Given the description of an element on the screen output the (x, y) to click on. 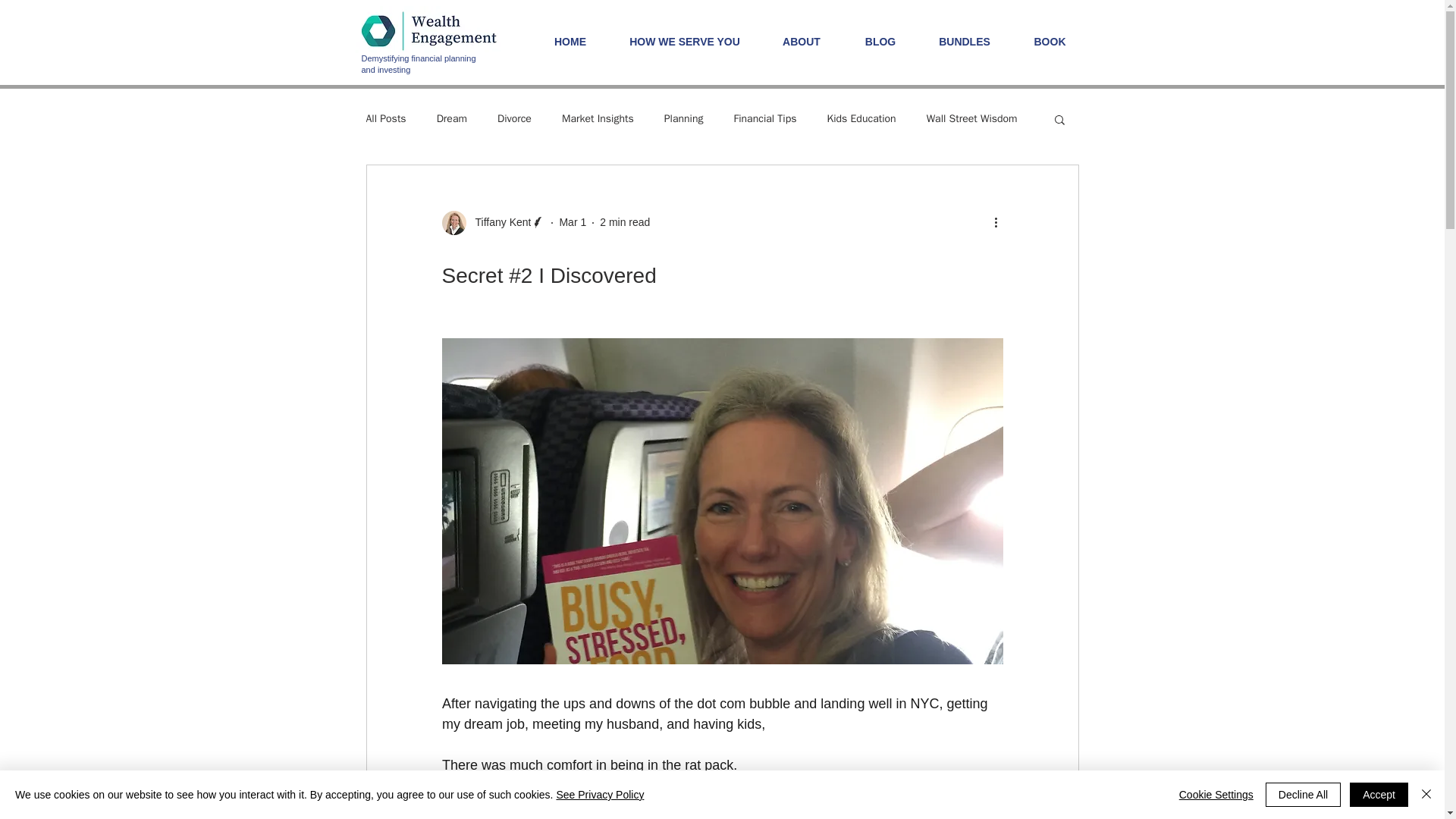
ABOUT (801, 41)
Mar 1 (572, 222)
2 min read (624, 222)
Financial Tips (764, 119)
HOME (569, 41)
All Posts (385, 119)
HOW WE SERVE YOU (685, 41)
Planning (683, 119)
Divorce (514, 119)
BLOG (880, 41)
BOOK (1050, 41)
Market Insights (597, 119)
Tiffany Kent (492, 222)
Wall Street Wisdom (971, 119)
BUNDLES (963, 41)
